Given the description of an element on the screen output the (x, y) to click on. 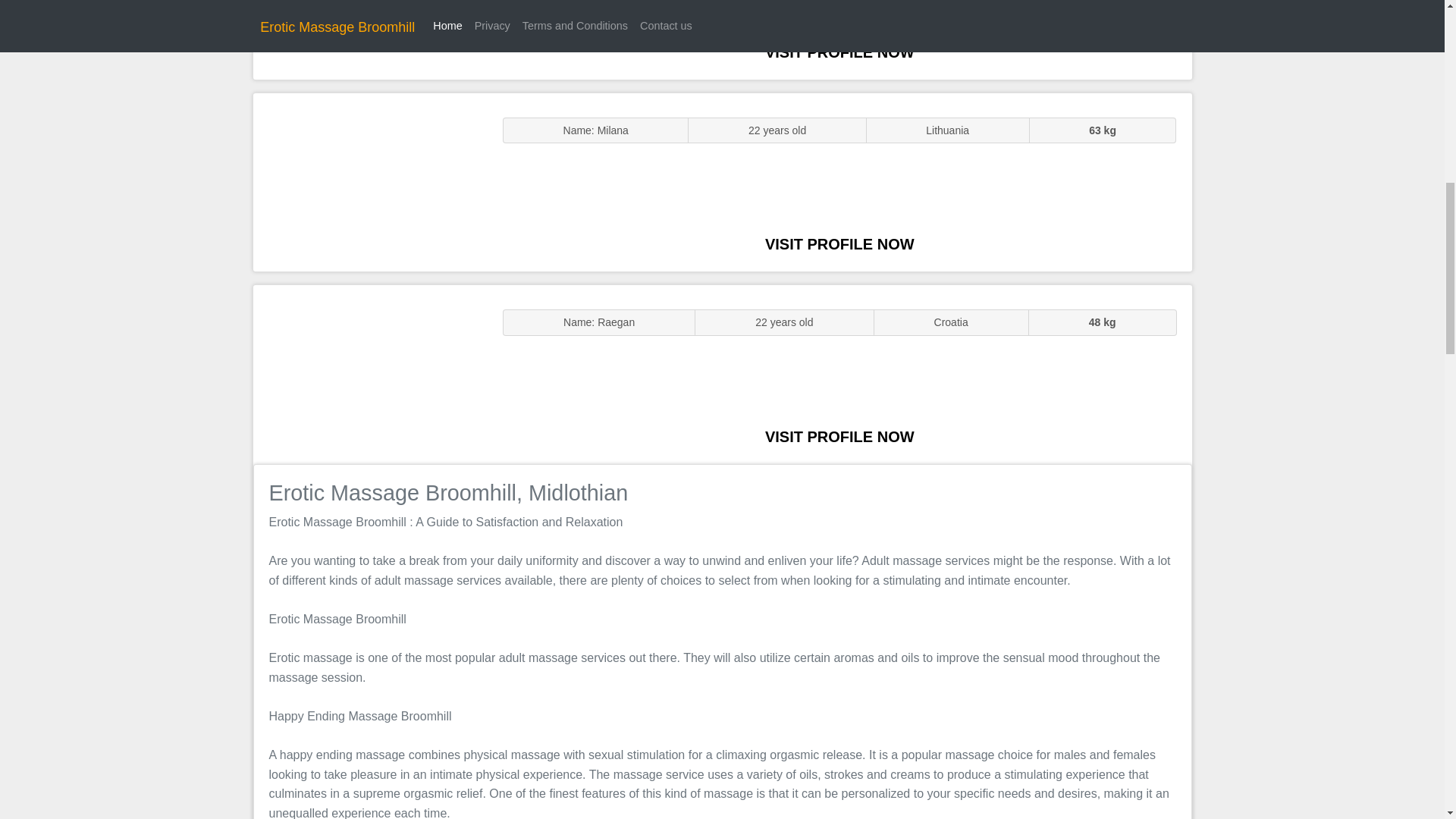
Sluts (370, 182)
Sluts (370, 39)
VISIT PROFILE NOW (839, 436)
VISIT PROFILE NOW (839, 52)
VISIT PROFILE NOW (839, 243)
Massage (370, 374)
